Given the description of an element on the screen output the (x, y) to click on. 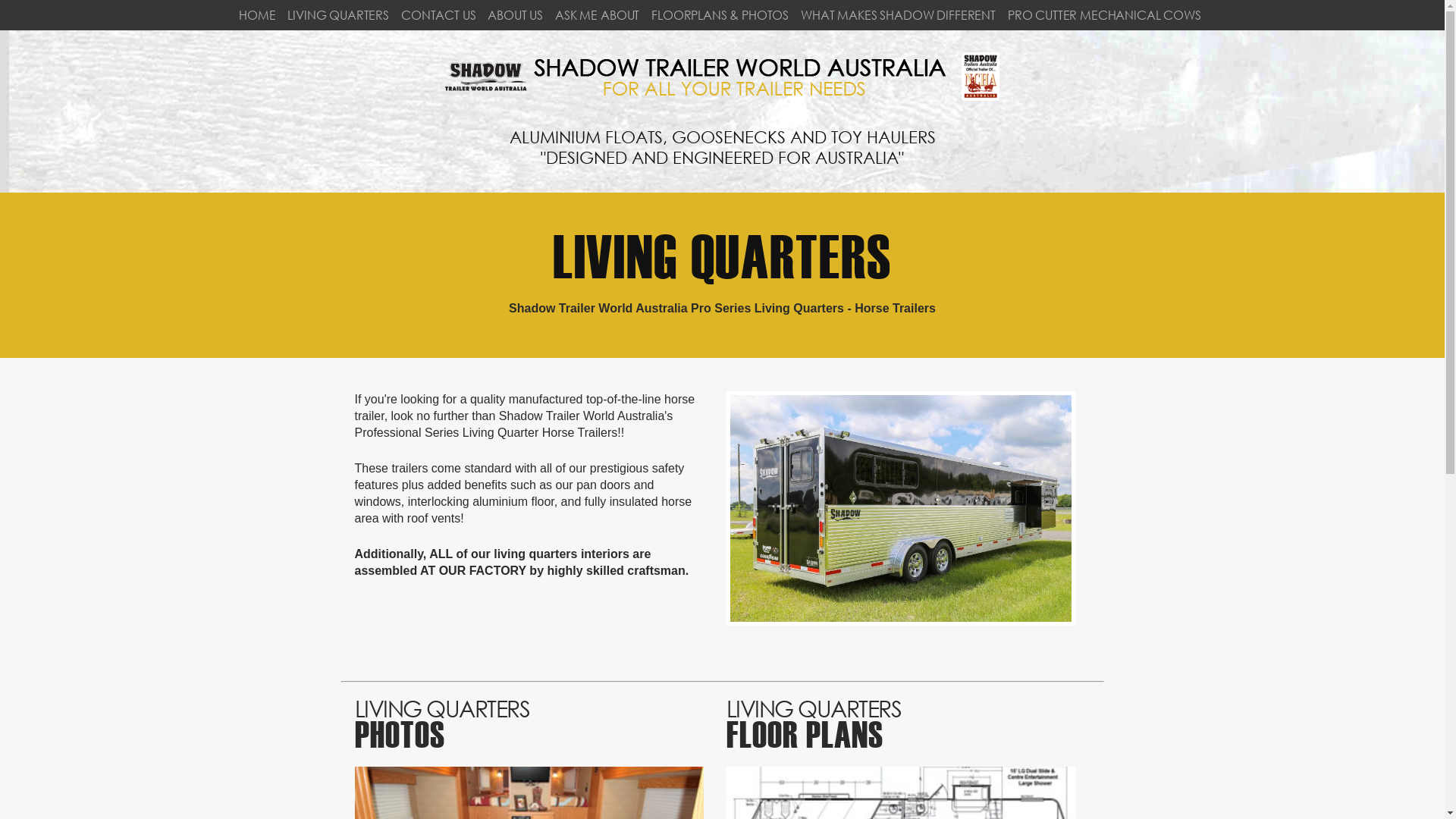
HOME Element type: text (256, 15)
WHAT MAKES SHADOW DIFFERENT Element type: text (897, 15)
PRO CUTTER MECHANICAL COWS Element type: text (1104, 15)
Shadow Trailers Element type: hover (721, 96)
ASK ME ABOUT Element type: text (597, 15)
CONTACT US Element type: text (438, 15)
Shadow Trailers Element type: hover (721, 76)
ABOUT US Element type: text (514, 15)
FLOORPLANS & PHOTOS Element type: text (719, 15)
LIVING QUARTERS Element type: text (338, 15)
